Given the description of an element on the screen output the (x, y) to click on. 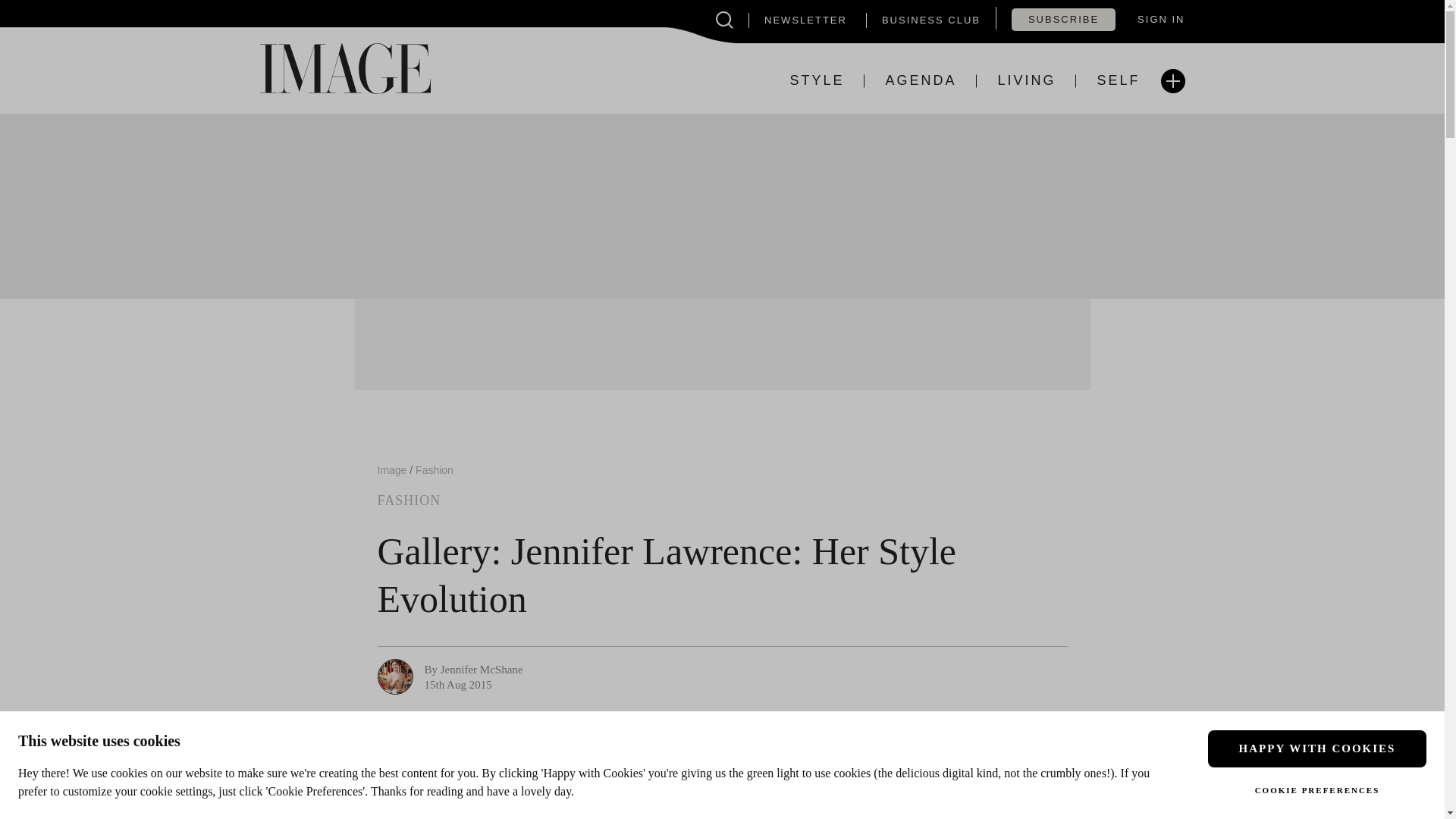
COOKIE PREFERENCES (1317, 789)
HAPPY WITH COOKIES (1317, 747)
